Given the description of an element on the screen output the (x, y) to click on. 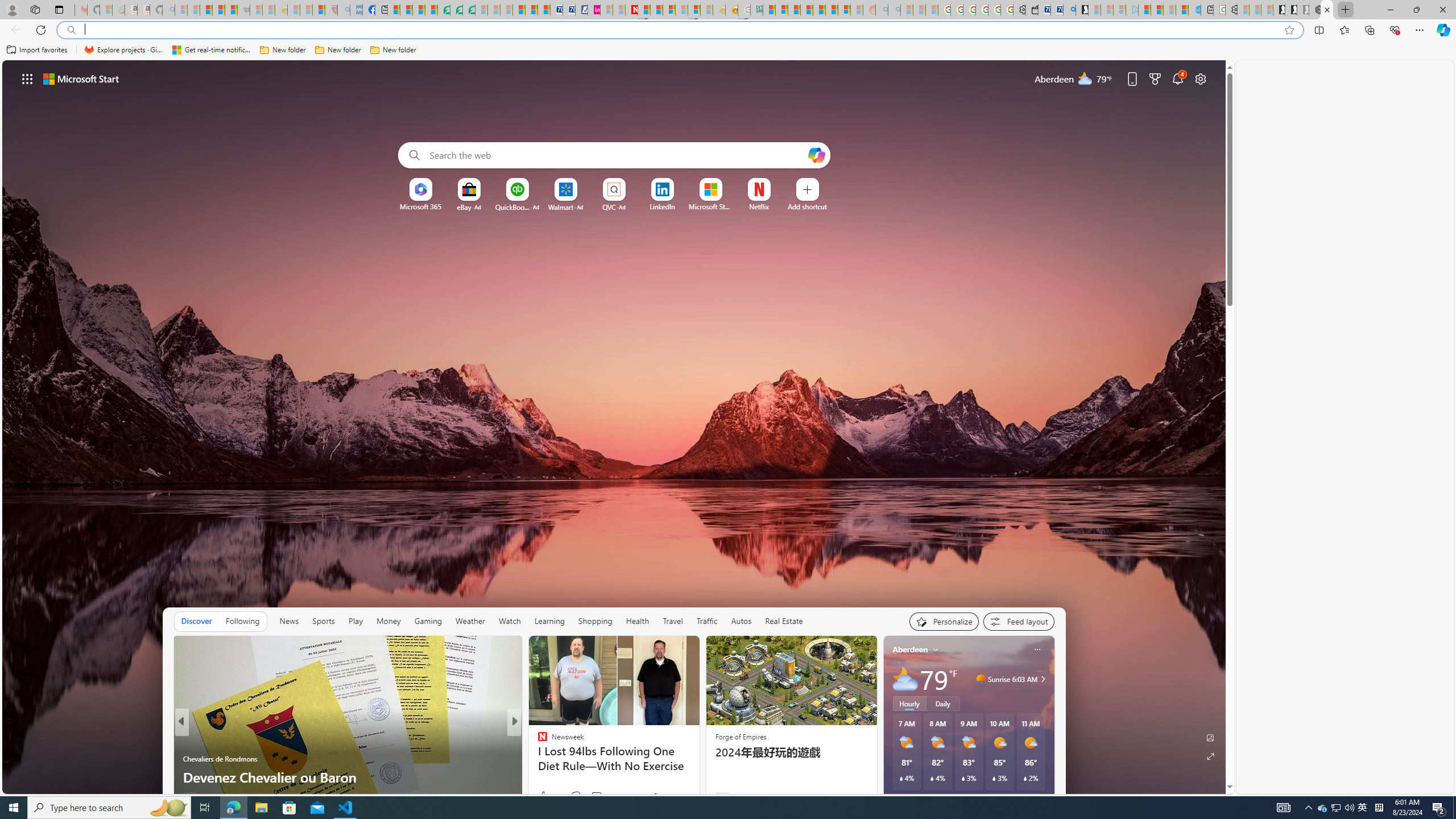
Play Free Online Games | Games from Microsoft Start (1279, 9)
42 Like (543, 796)
Autos (740, 621)
Discover (195, 621)
Gaming (428, 621)
Start the conversation (589, 797)
907 Like (548, 795)
World - MSN (418, 9)
10 Best Weight Loss Lunches That Are 400 Calories or Less (697, 767)
You're following Newsweek (670, 795)
Kinda Frugal - MSN (832, 9)
Utah sues federal government - Search - Sleeping (894, 9)
